Given the description of an element on the screen output the (x, y) to click on. 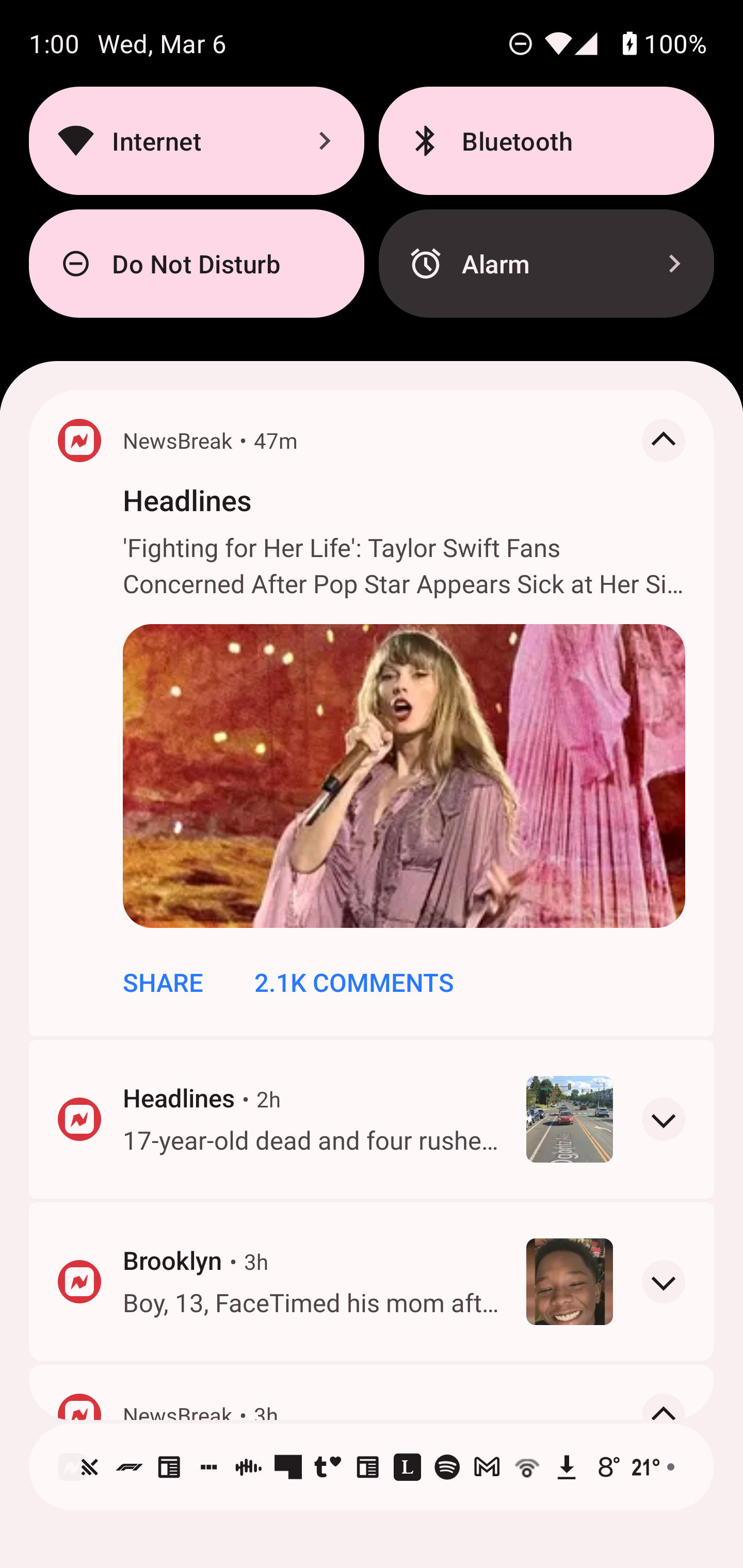
On Internet,AndroidWifi Internet (196, 140)
On Bluetooth. Bluetooth (546, 140)
On Do Not Disturb.,  Do Not Disturb (196, 264)
Alarm, No alarm set Alarm (546, 264)
Collapse (663, 440)
SHARE Share (163, 982)
2.1K COMMENTS 2.1K Comments (353, 982)
Expand (663, 1118)
Expand (663, 1281)
Collapse (663, 1415)
